Given the description of an element on the screen output the (x, y) to click on. 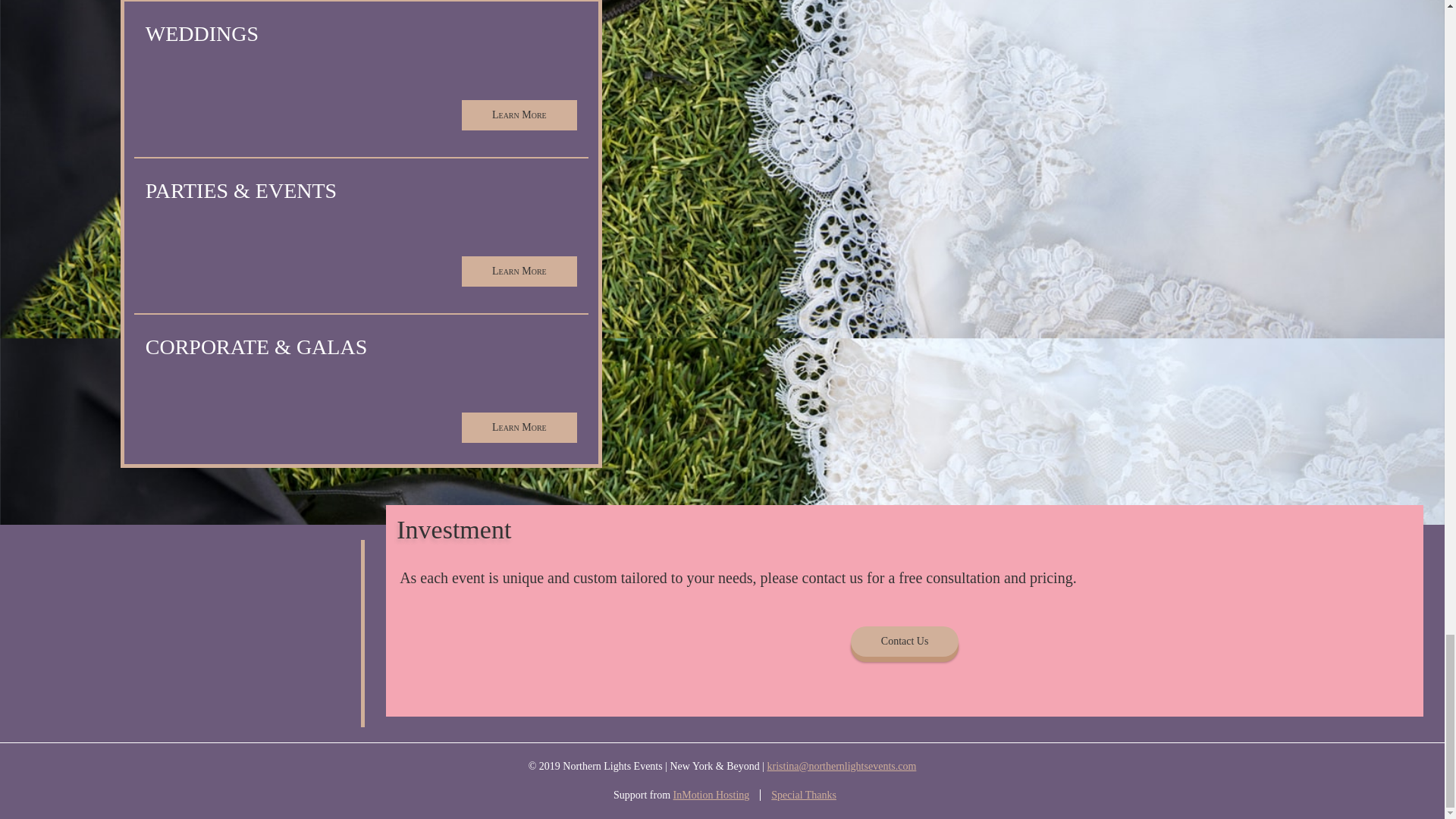
Contact Us (904, 641)
Learn More (518, 271)
Learn More (518, 114)
InMotion Hosting (710, 794)
Special Thanks (803, 794)
Learn More (518, 427)
